Given the description of an element on the screen output the (x, y) to click on. 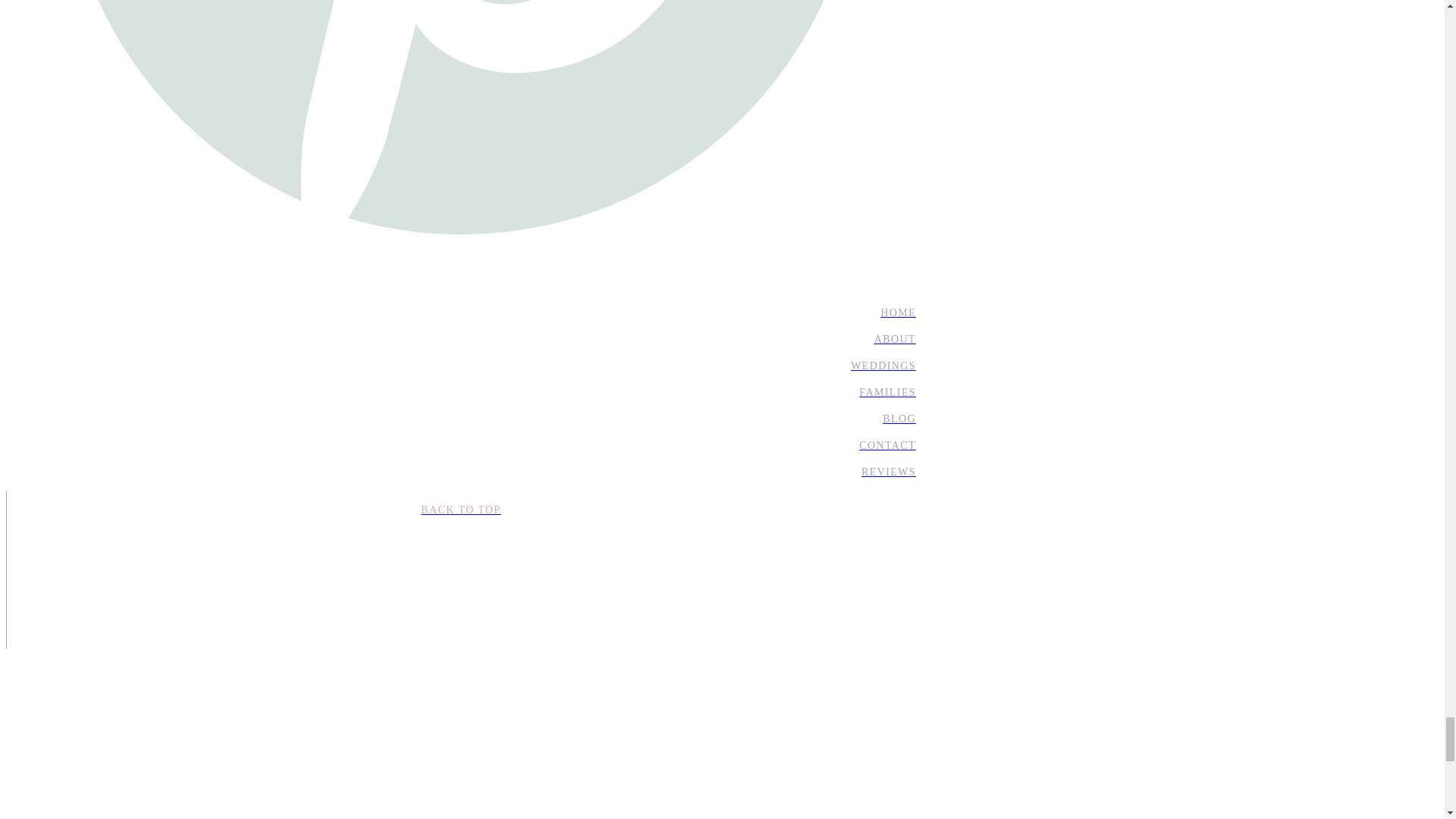
WEDDINGS (460, 365)
ABOUT (460, 339)
HOME (460, 312)
